Given the description of an element on the screen output the (x, y) to click on. 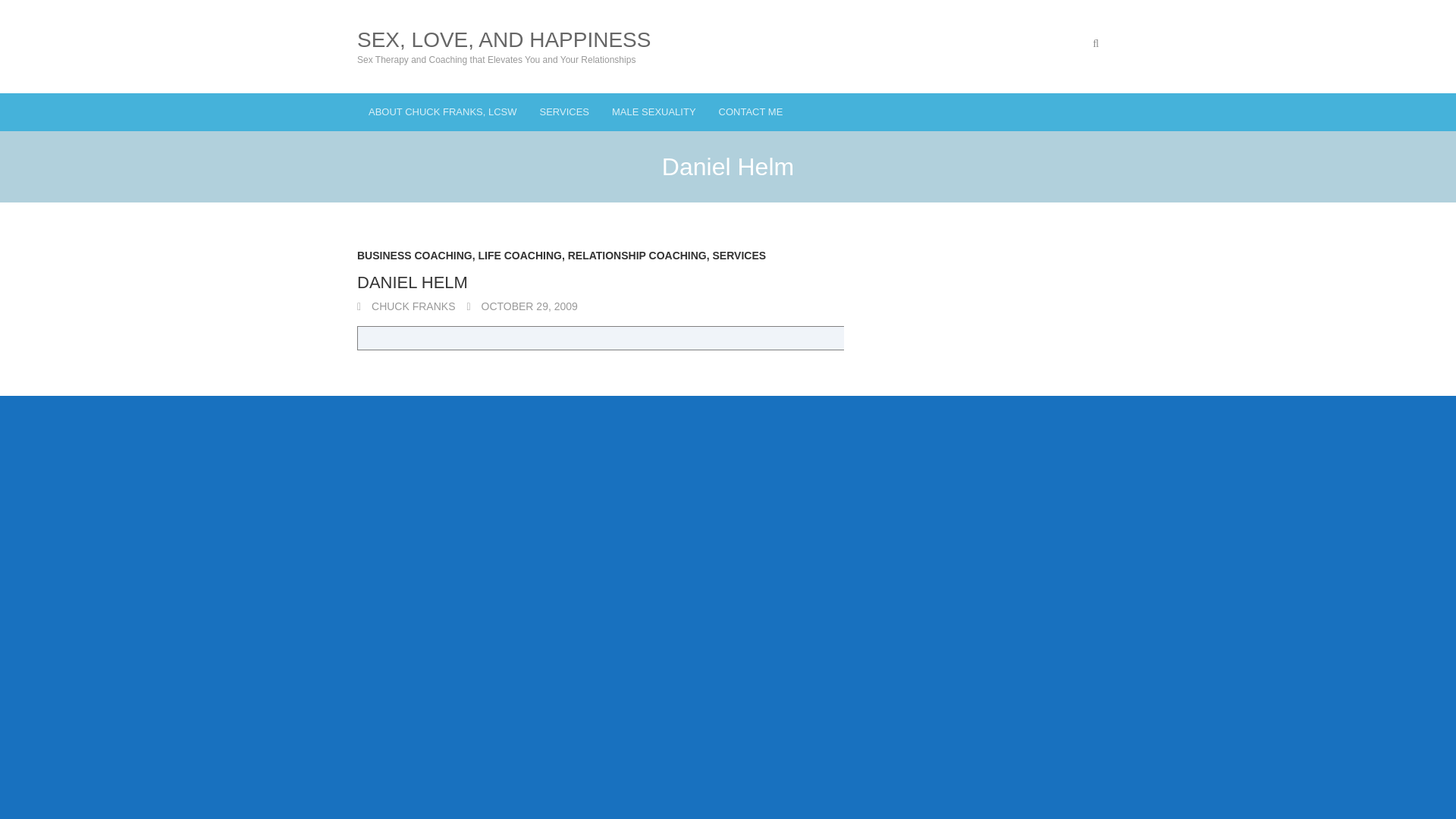
RELATIONSHIP COACHING (636, 259)
SEX, LOVE, AND HAPPINESS (503, 40)
CONTACT ME (750, 112)
CHUCK FRANKS (405, 306)
MALE SEXUALITY (653, 112)
LIFE COACHING (518, 259)
SERVICES (564, 112)
 Sex, Love, and Happiness (503, 40)
10:05 pm (520, 306)
Chuck Franks (405, 306)
